Given the description of an element on the screen output the (x, y) to click on. 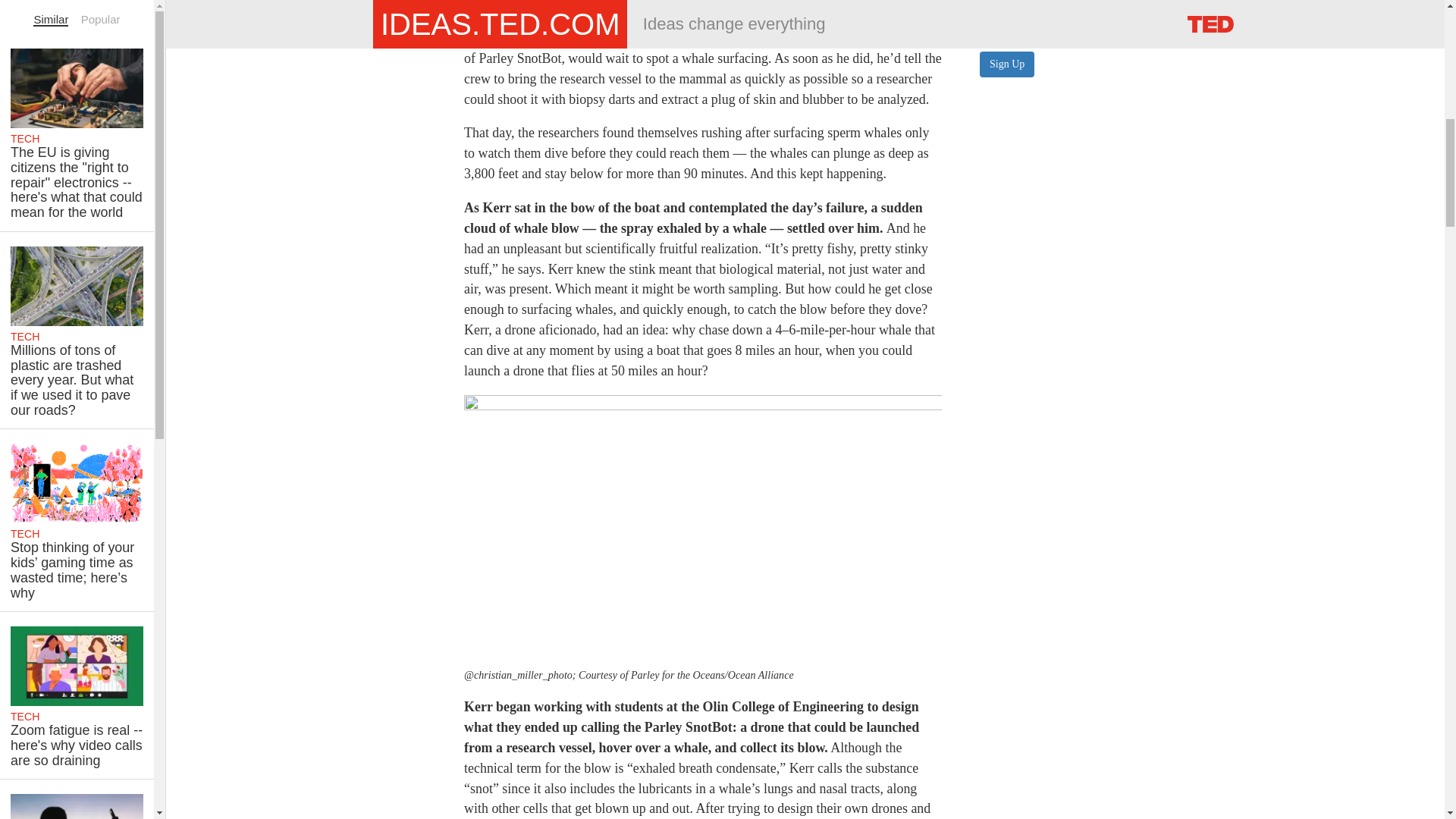
Sign Up (1006, 63)
Iain Kerr (628, 17)
Ocean Alliance (785, 37)
